Given the description of an element on the screen output the (x, y) to click on. 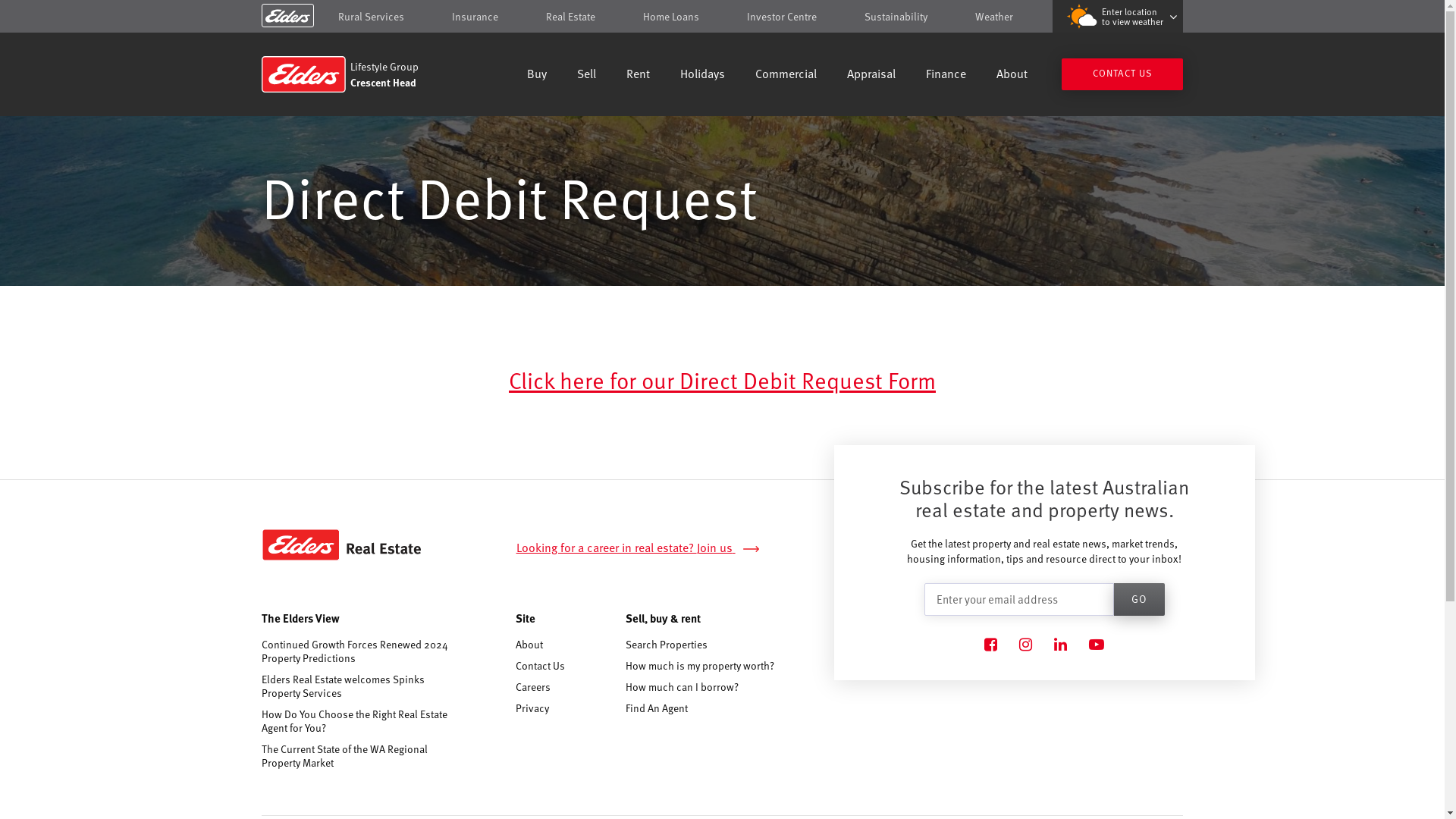
About Element type: text (1011, 75)
Click here for our Direct Debit Request Form Element type: text (721, 378)
Holidays Element type: text (702, 75)
Investor Centre Element type: text (781, 16)
How Do You Choose the Right Real Estate Agent for You? Element type: text (358, 720)
Weather Element type: text (994, 16)
Find An Agent Element type: text (656, 707)
CONTACT US Element type: text (1122, 74)
Elders Real Estate welcomes Spinks Property Services Element type: text (358, 685)
Commercial Element type: text (785, 75)
Insurance Element type: text (474, 16)
How much is my property worth? Element type: text (699, 665)
Careers Element type: text (532, 686)
Finance Element type: text (945, 75)
Enter location to view weather Element type: text (1117, 16)
Real Estate Element type: text (570, 16)
Looking for a career in real estate? Join us Element type: text (645, 547)
Rent Element type: text (637, 75)
Lifestyle Group Crescent Head Element type: text (369, 74)
Contact Us Element type: text (539, 665)
Sell Element type: text (586, 75)
Sustainability Element type: text (895, 16)
Search Properties Element type: text (666, 644)
Continued Growth Forces Renewed 2024 Property Predictions Element type: text (358, 650)
Skip to content Element type: text (722, 17)
Privacy Element type: text (532, 707)
Buy Element type: text (536, 75)
Home Loans Element type: text (671, 16)
Go Element type: text (1138, 599)
Rural Services Element type: text (371, 16)
Appraisal Element type: text (871, 75)
The Current State of the WA Regional Property Market Element type: text (358, 755)
How much can I borrow? Element type: text (681, 686)
About Element type: text (528, 644)
